Given the description of an element on the screen output the (x, y) to click on. 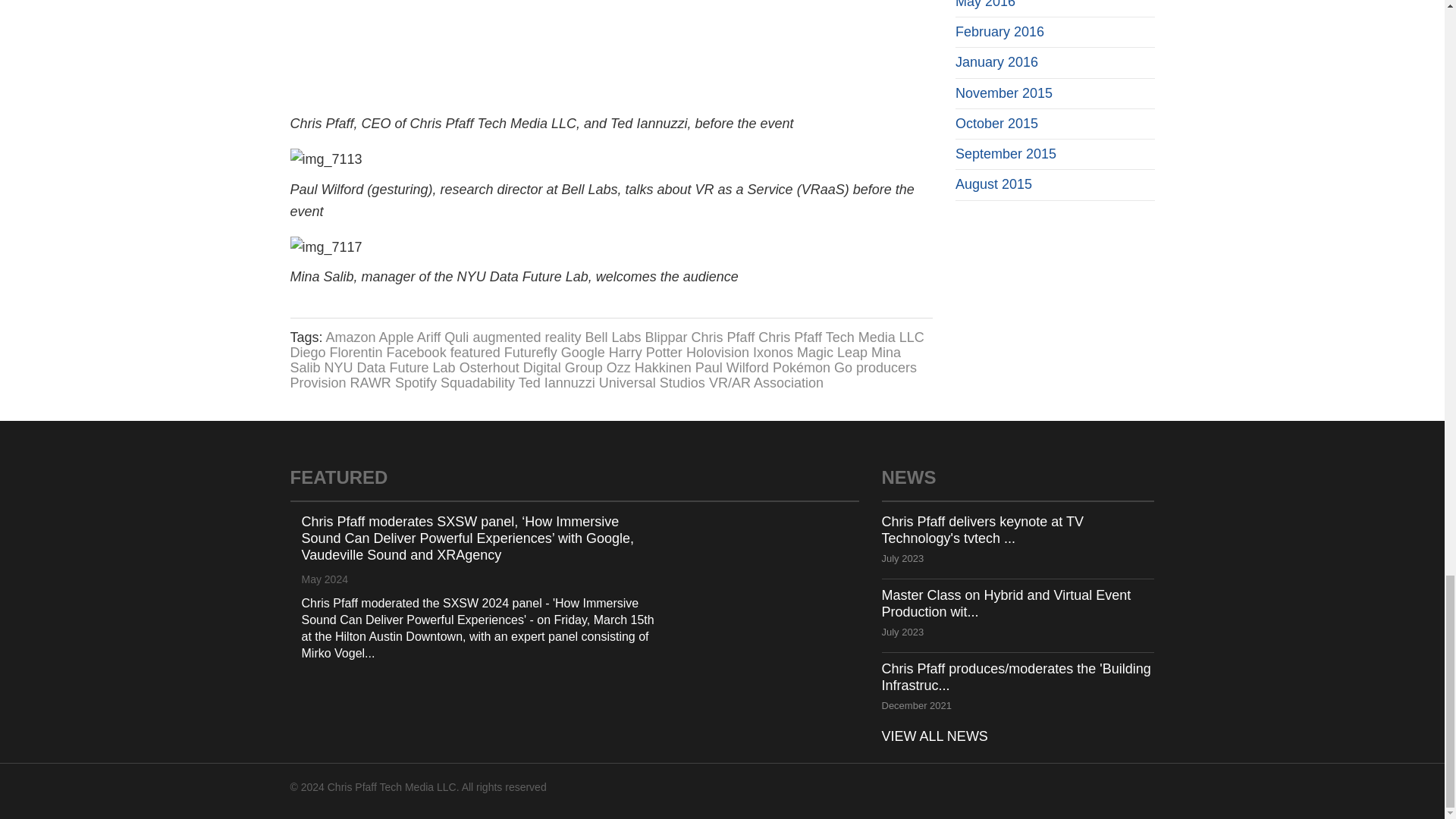
Diego Florentin (335, 351)
Harry Potter (645, 351)
Google (582, 351)
Ozz Hakkinen (649, 366)
Apple (395, 336)
Magic Leap (831, 351)
Holovision (717, 351)
Ariff Quli (442, 336)
Mina Salib (595, 358)
NYU Data Future Lab (389, 366)
Blippar (666, 336)
Paul Wilford (731, 366)
Bell Labs (612, 336)
Amazon (350, 336)
Chris Pfaff Tech Media LLC (840, 336)
